Given the description of an element on the screen output the (x, y) to click on. 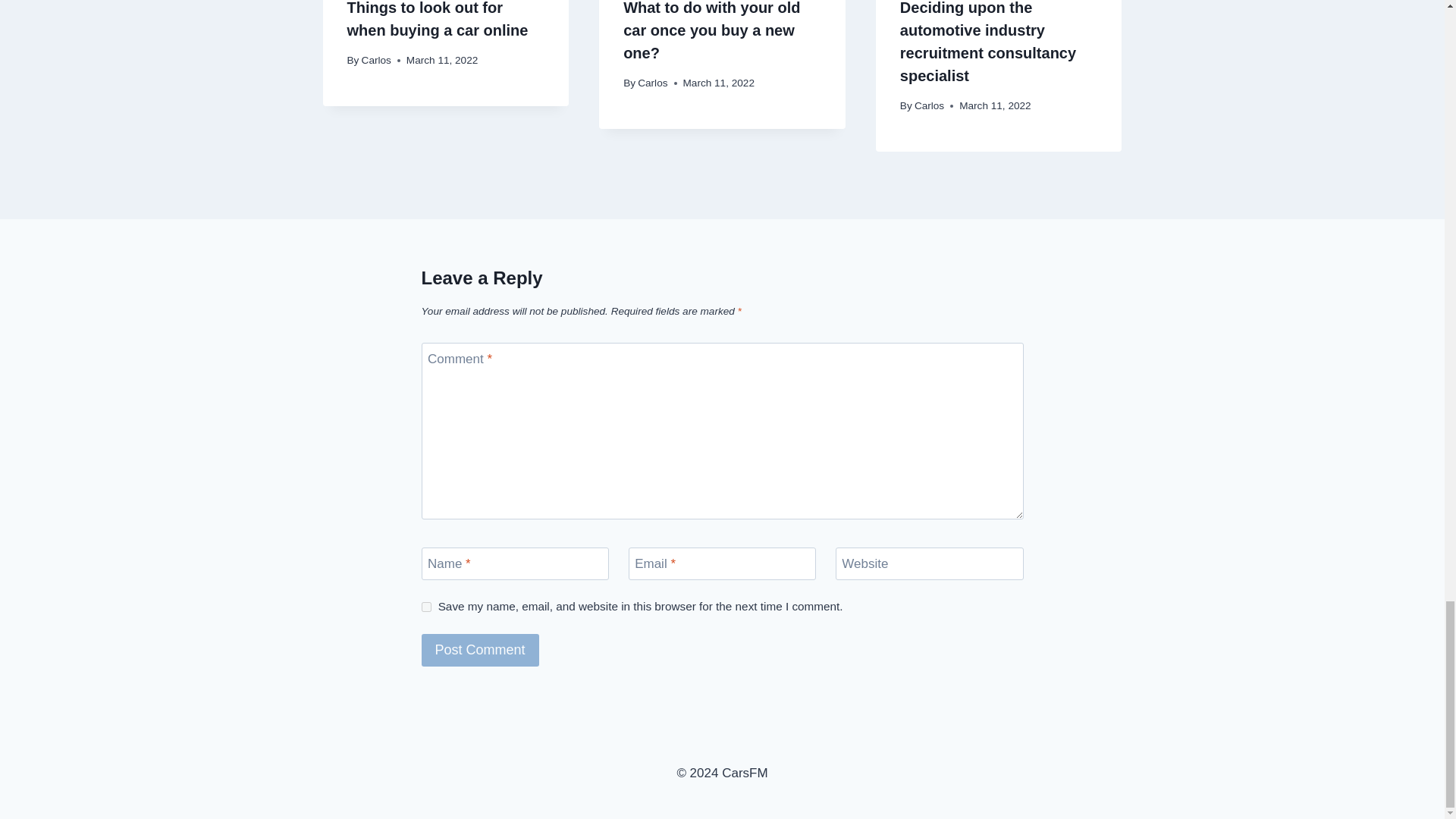
Carlos (376, 60)
Things to look out for when buying a car online (437, 19)
Post Comment (480, 649)
yes (426, 606)
